Given the description of an element on the screen output the (x, y) to click on. 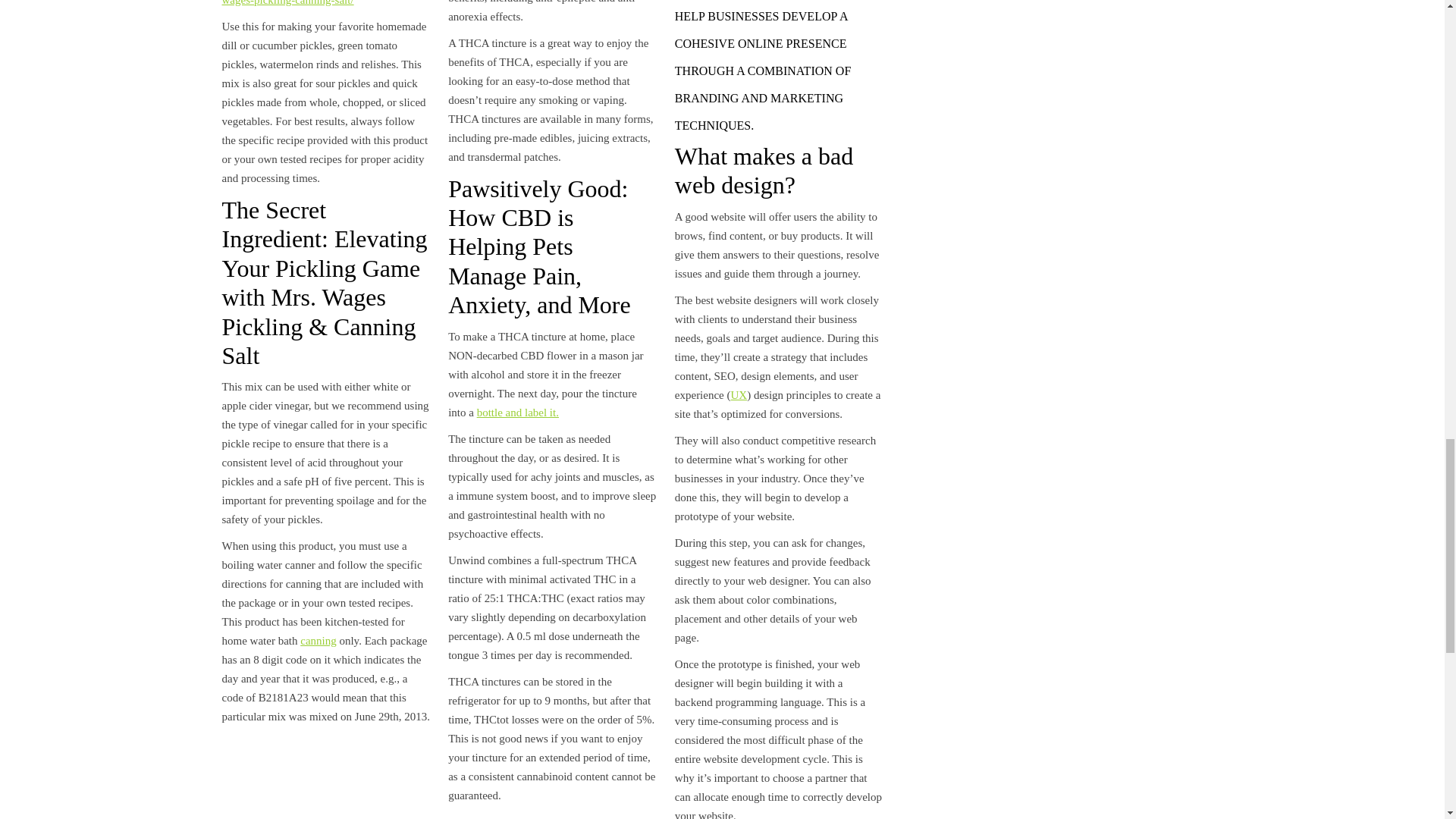
bottle and label it. (518, 412)
canning (317, 640)
UX (739, 395)
